Given the description of an element on the screen output the (x, y) to click on. 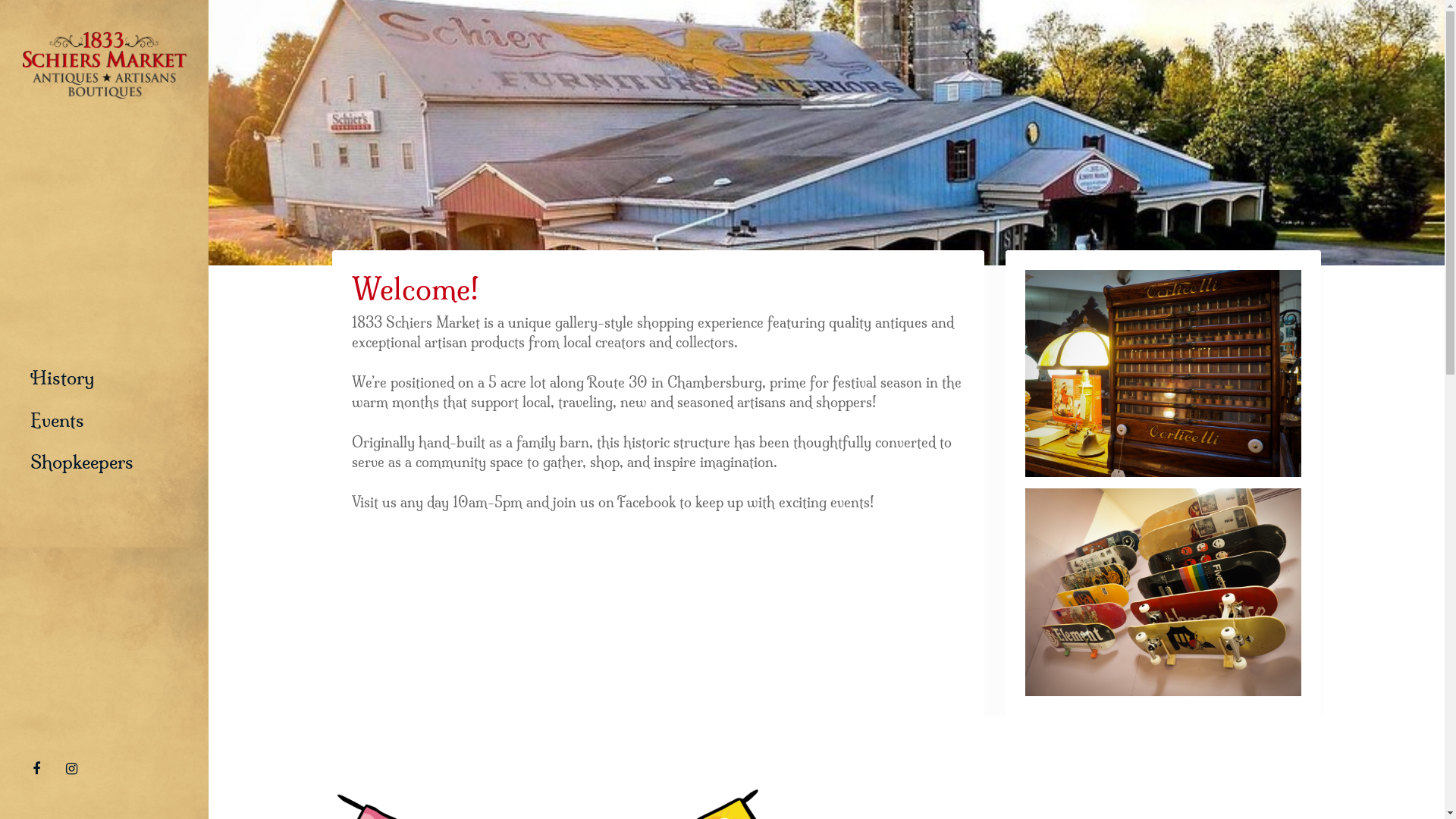
Events Element type: text (56, 420)
Shopkeepers Element type: text (81, 462)
History Element type: text (62, 378)
